Given the description of an element on the screen output the (x, y) to click on. 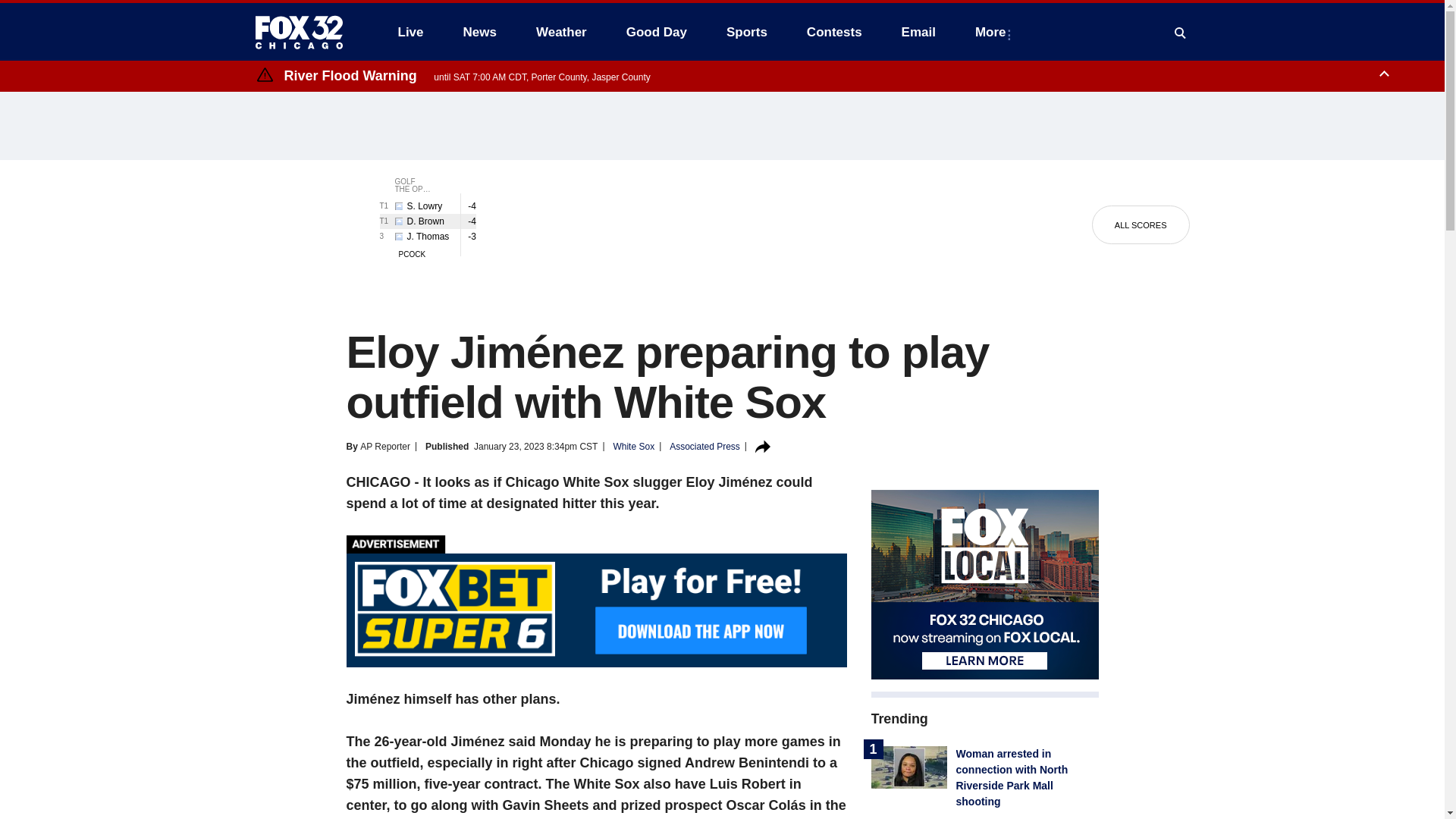
Contests (834, 32)
Email (918, 32)
News (479, 32)
Live (410, 32)
Good Day (656, 32)
Weather (561, 32)
Sports (746, 32)
More (993, 32)
